Given the description of an element on the screen output the (x, y) to click on. 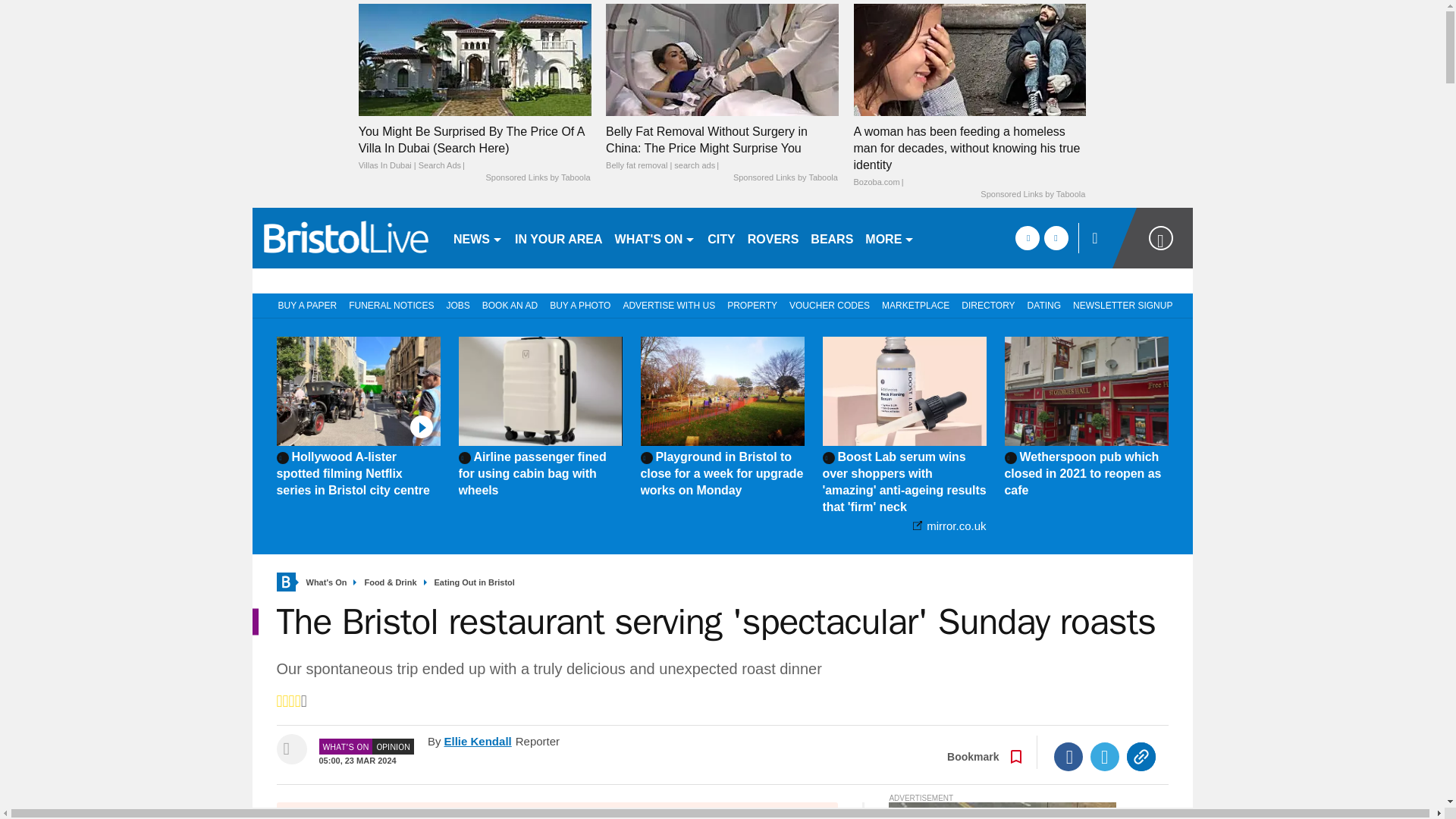
Facebook (1068, 756)
twitter (1055, 238)
WHAT'S ON (654, 238)
Twitter (1104, 756)
Sponsored Links by Taboola (536, 177)
NEWS (477, 238)
IN YOUR AREA (558, 238)
bristolpost (345, 238)
facebook (1026, 238)
Sponsored Links by Taboola (785, 177)
Sponsored Links by Taboola (1031, 194)
